Given the description of an element on the screen output the (x, y) to click on. 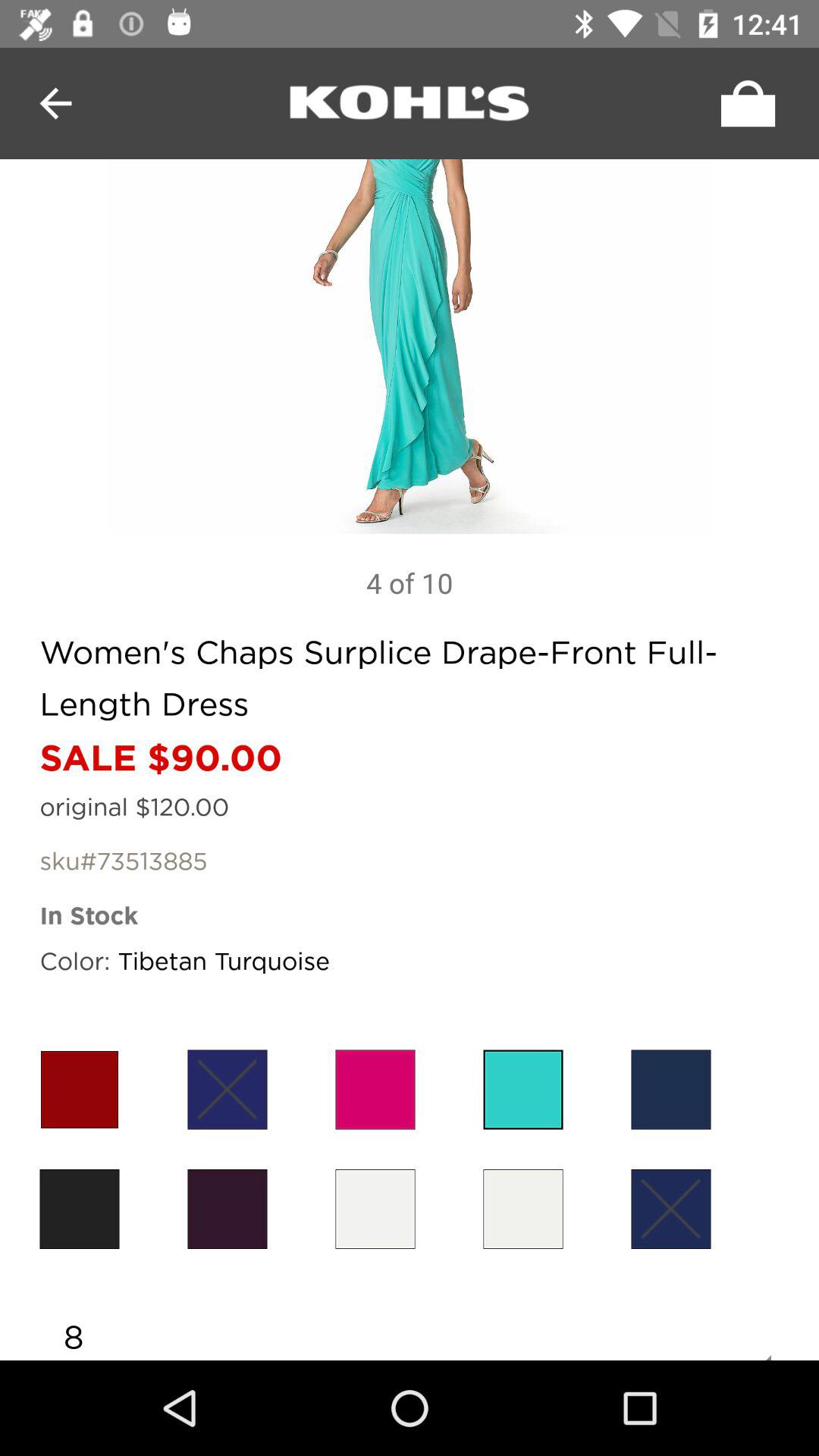
select purple color (227, 1208)
